Given the description of an element on the screen output the (x, y) to click on. 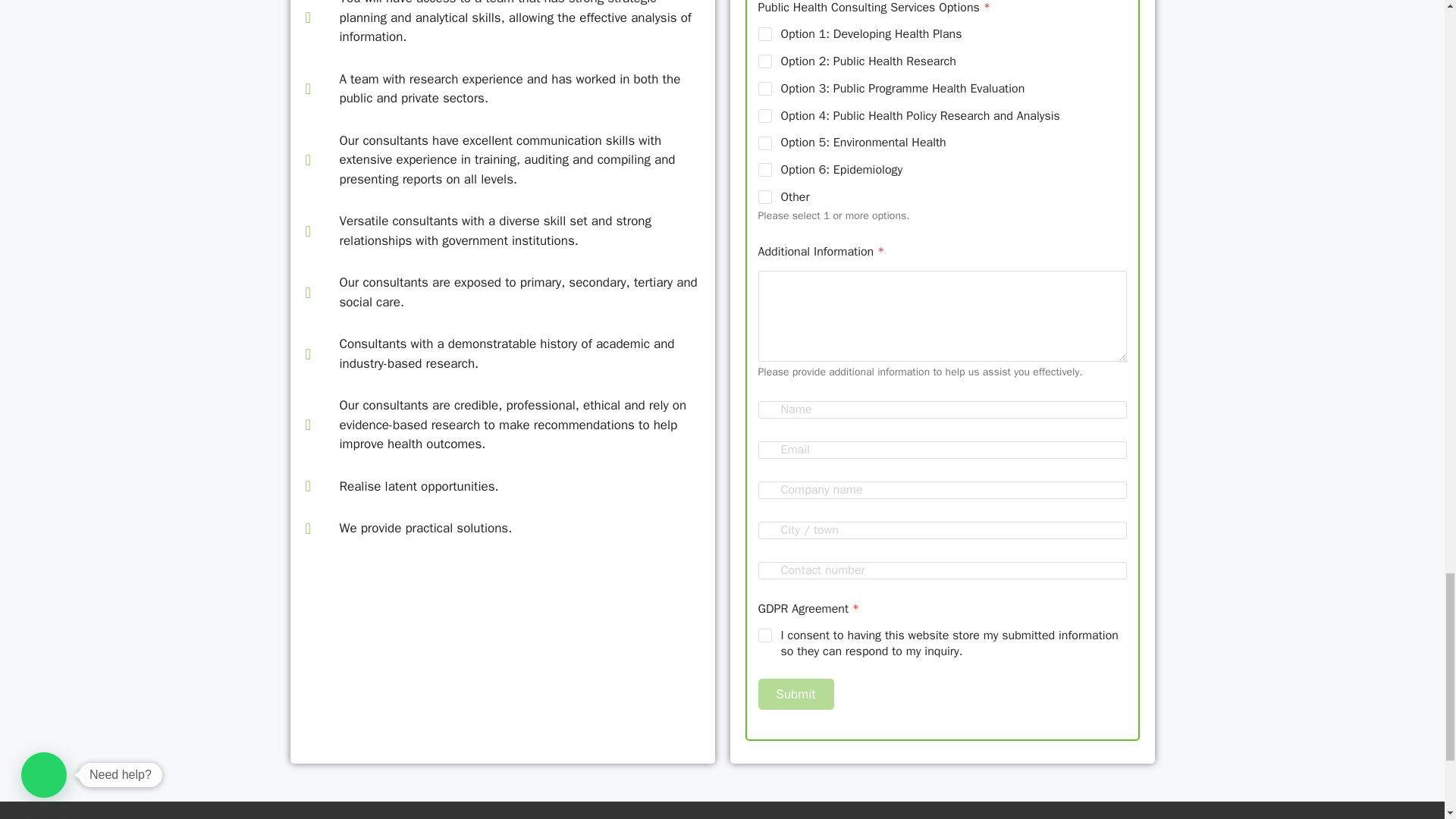
Option 1: Developing Health Plans (765, 34)
Option 6: Epidemiology (765, 170)
Other (765, 197)
Option 5: Environmental Health (765, 143)
Option 2: Public Health Research (765, 61)
Option 4: Public Health Policy Research and Analysis (765, 116)
Option 3: Public Programme Health Evaluation (765, 89)
